Given the description of an element on the screen output the (x, y) to click on. 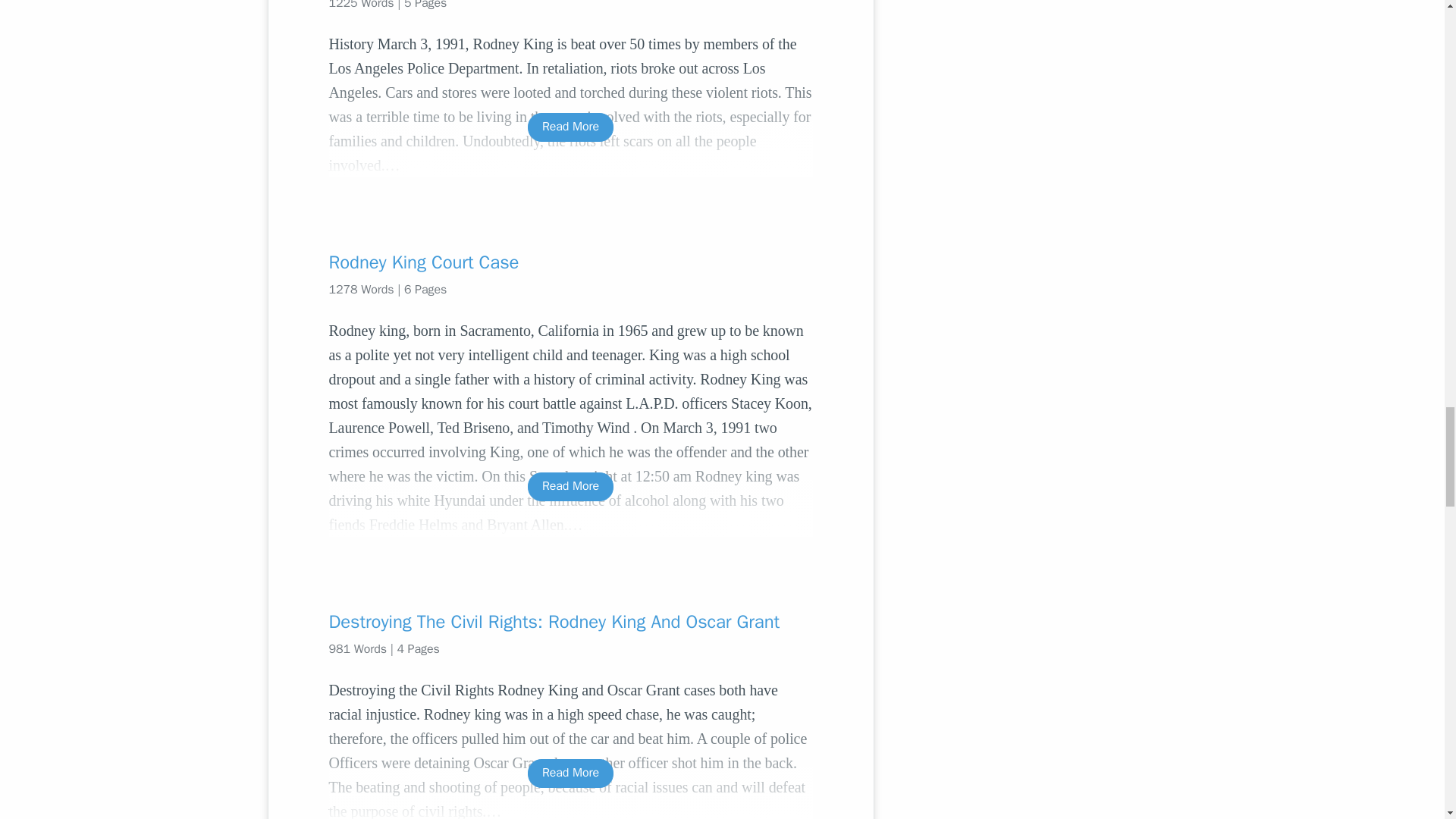
Rodney King Court Case (570, 262)
Read More (569, 773)
Read More (569, 126)
Read More (569, 486)
Destroying The Civil Rights: Rodney King And Oscar Grant (570, 621)
